Given the description of an element on the screen output the (x, y) to click on. 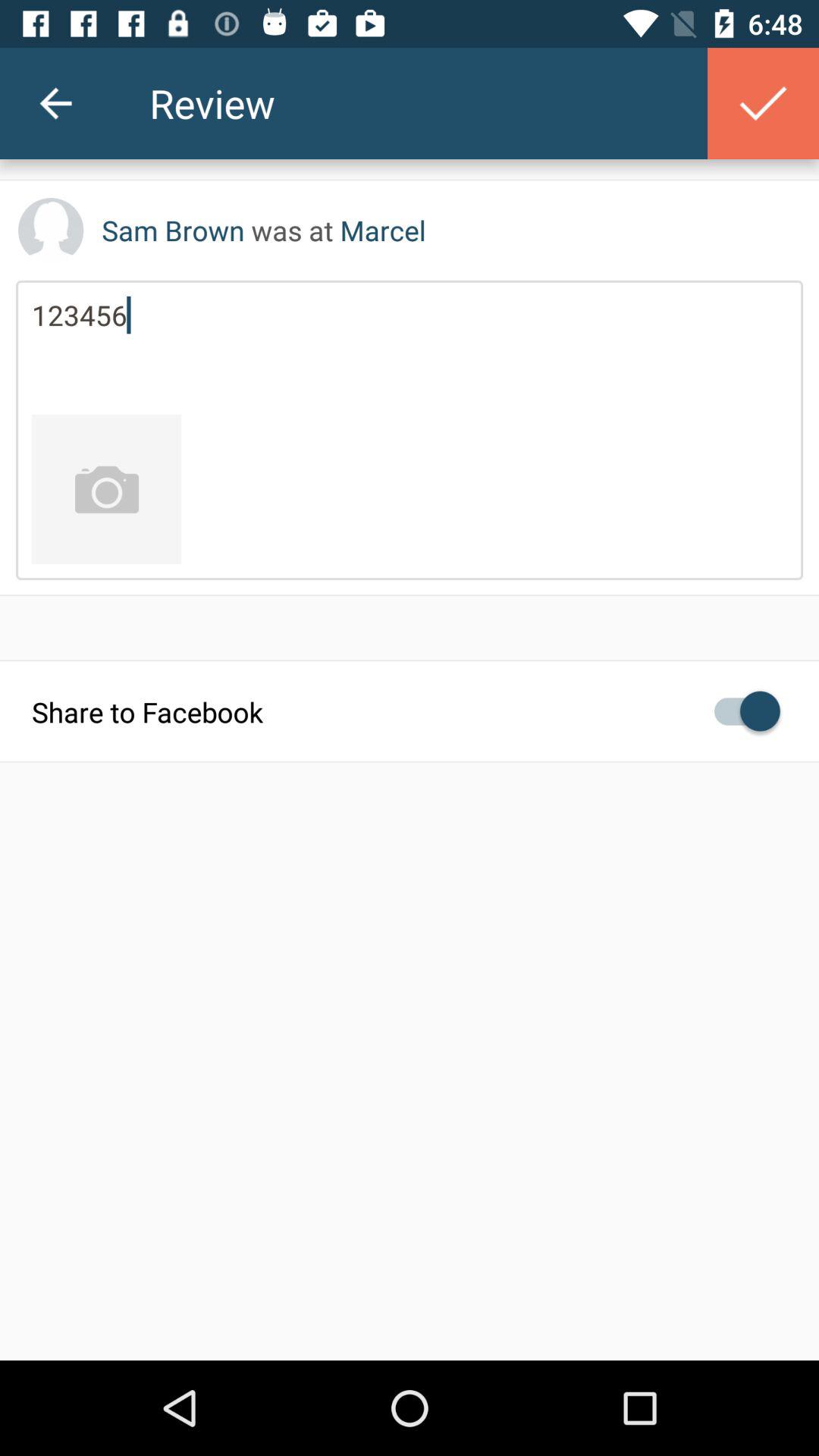
flip to 123456 item (409, 347)
